Given the description of an element on the screen output the (x, y) to click on. 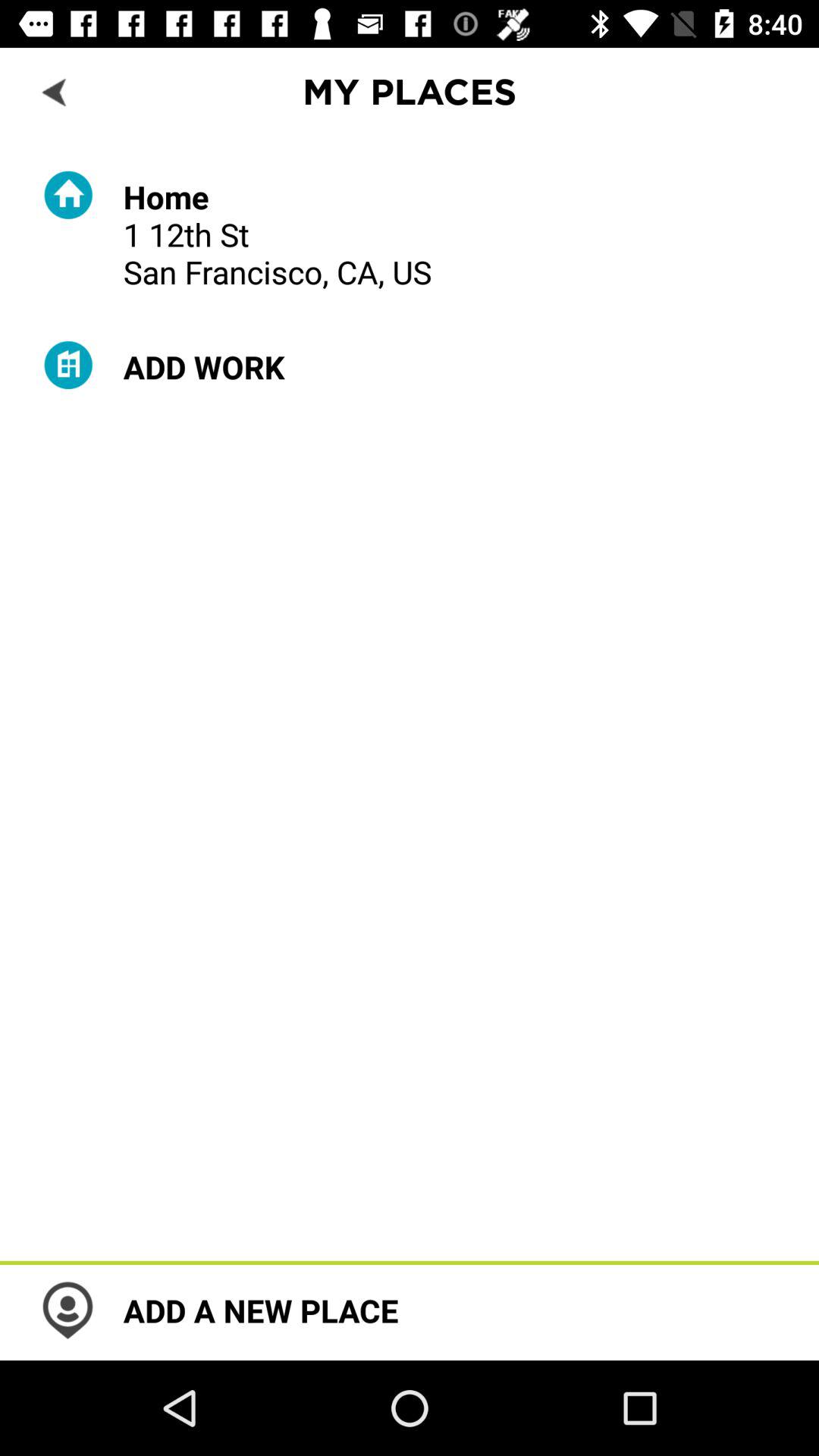
turn on the add work item (203, 366)
